Given the description of an element on the screen output the (x, y) to click on. 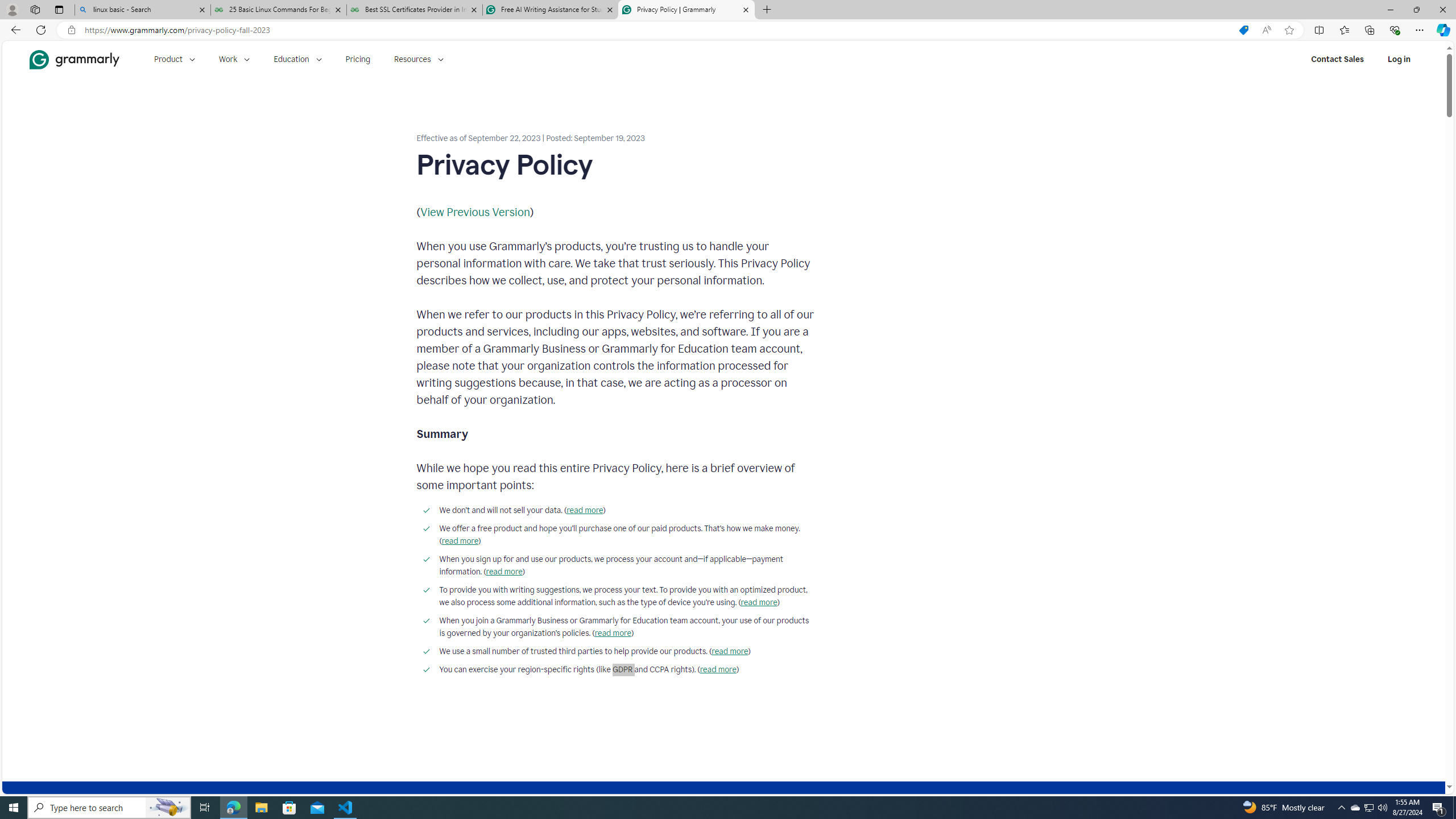
Outlook (1442, 98)
Log in (1399, 58)
